Given the description of an element on the screen output the (x, y) to click on. 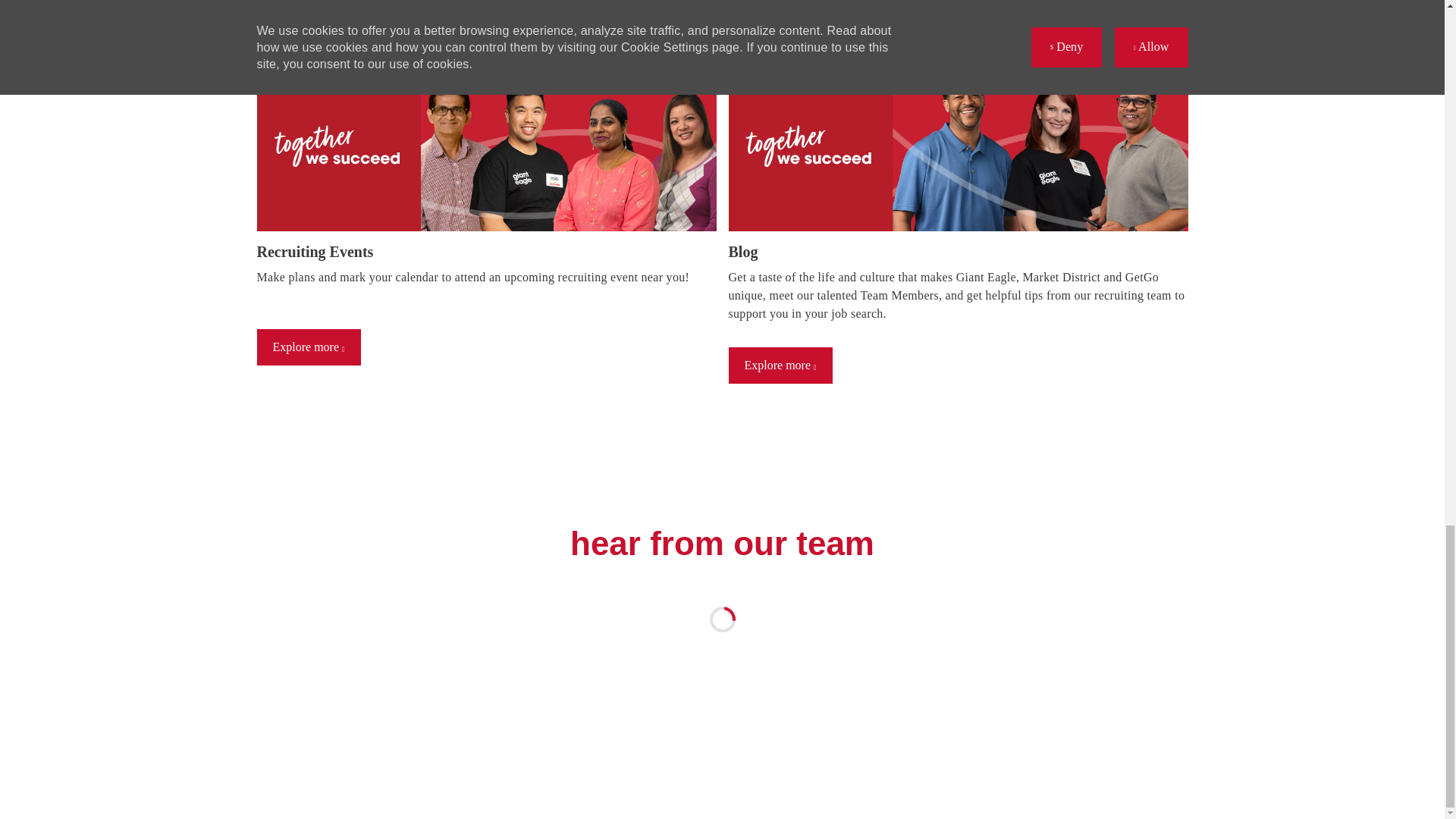
Explore more (307, 347)
Explore more (779, 365)
